Given the description of an element on the screen output the (x, y) to click on. 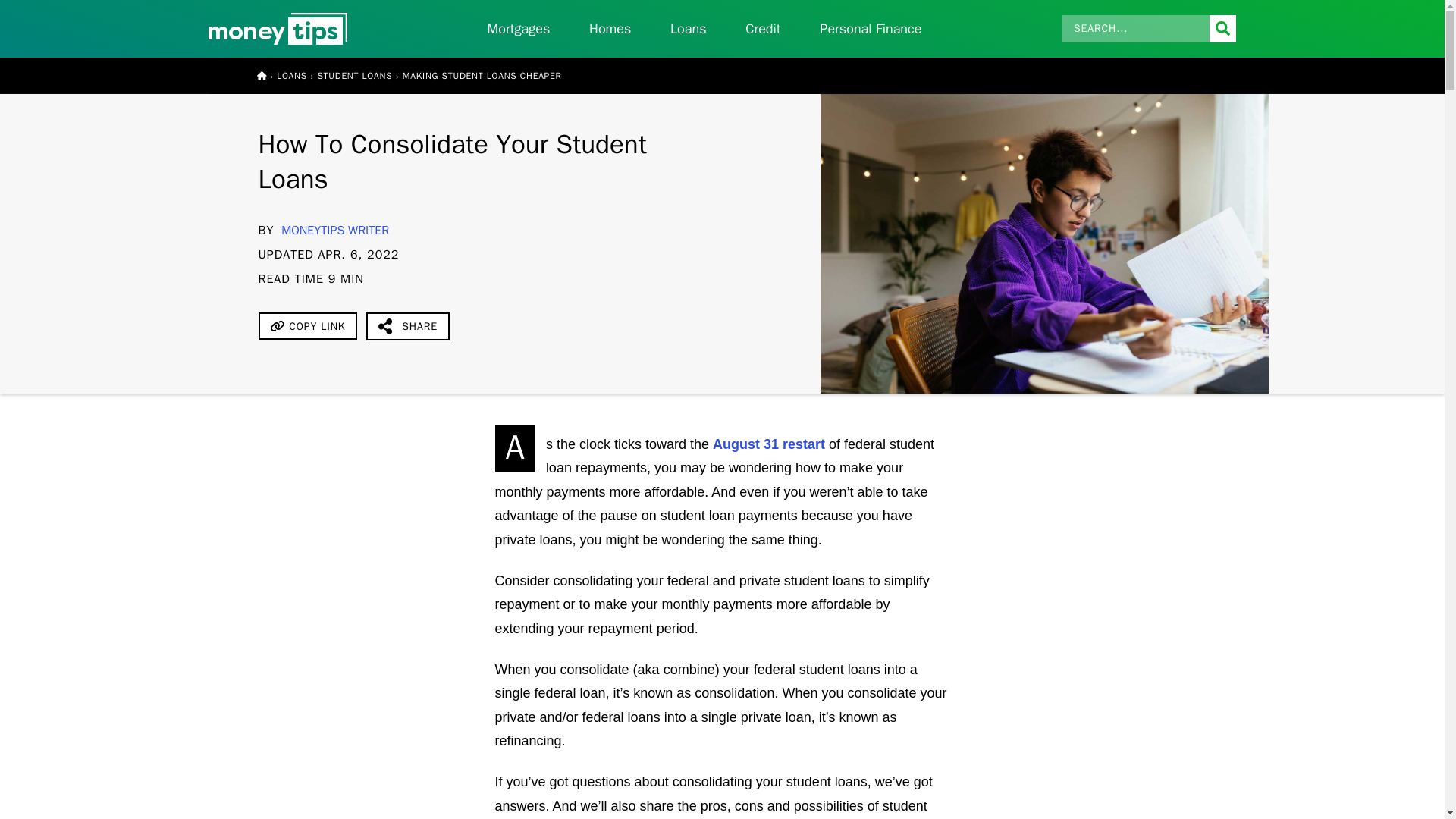
Toggle Share Menu (407, 326)
Loans (687, 28)
Homes (609, 28)
Search MoneyTips (1148, 28)
Mortgages (517, 28)
Submit Search (1222, 28)
Copy Link (306, 325)
Credit (763, 28)
